Given the description of an element on the screen output the (x, y) to click on. 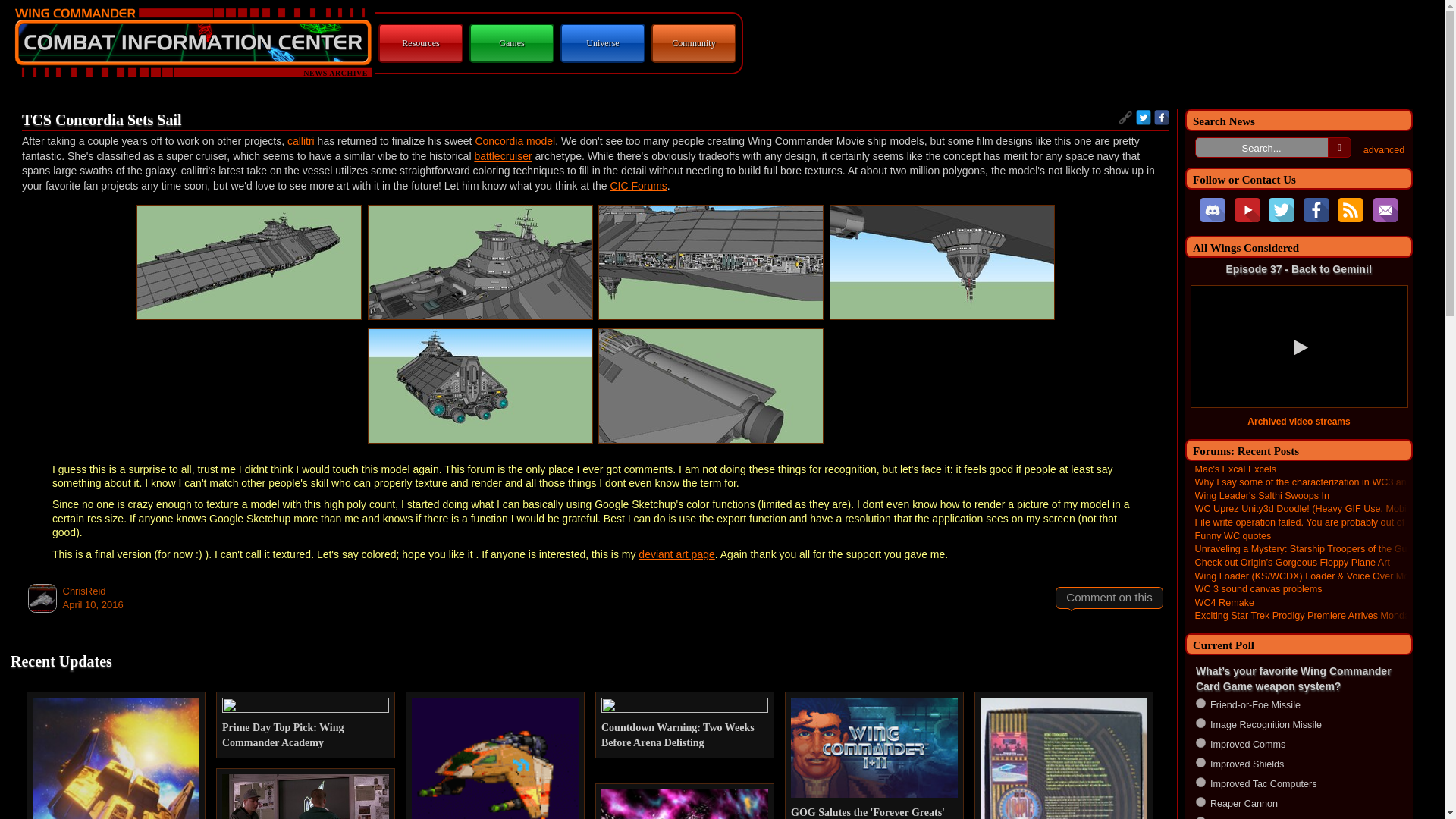
Discord chat with staff and fans (1211, 209)
1 (1200, 702)
RSS news feed (1350, 209)
Share on Twitter (1143, 117)
2 (1200, 723)
3 (1200, 742)
Follow us on YouTube (1246, 209)
4 (1200, 762)
Follow us on Facebook (1315, 209)
Advanced search (1383, 149)
6 (1200, 801)
Games (511, 42)
Share on Facebook (1161, 117)
Follow us on Twitter (1281, 209)
